Given the description of an element on the screen output the (x, y) to click on. 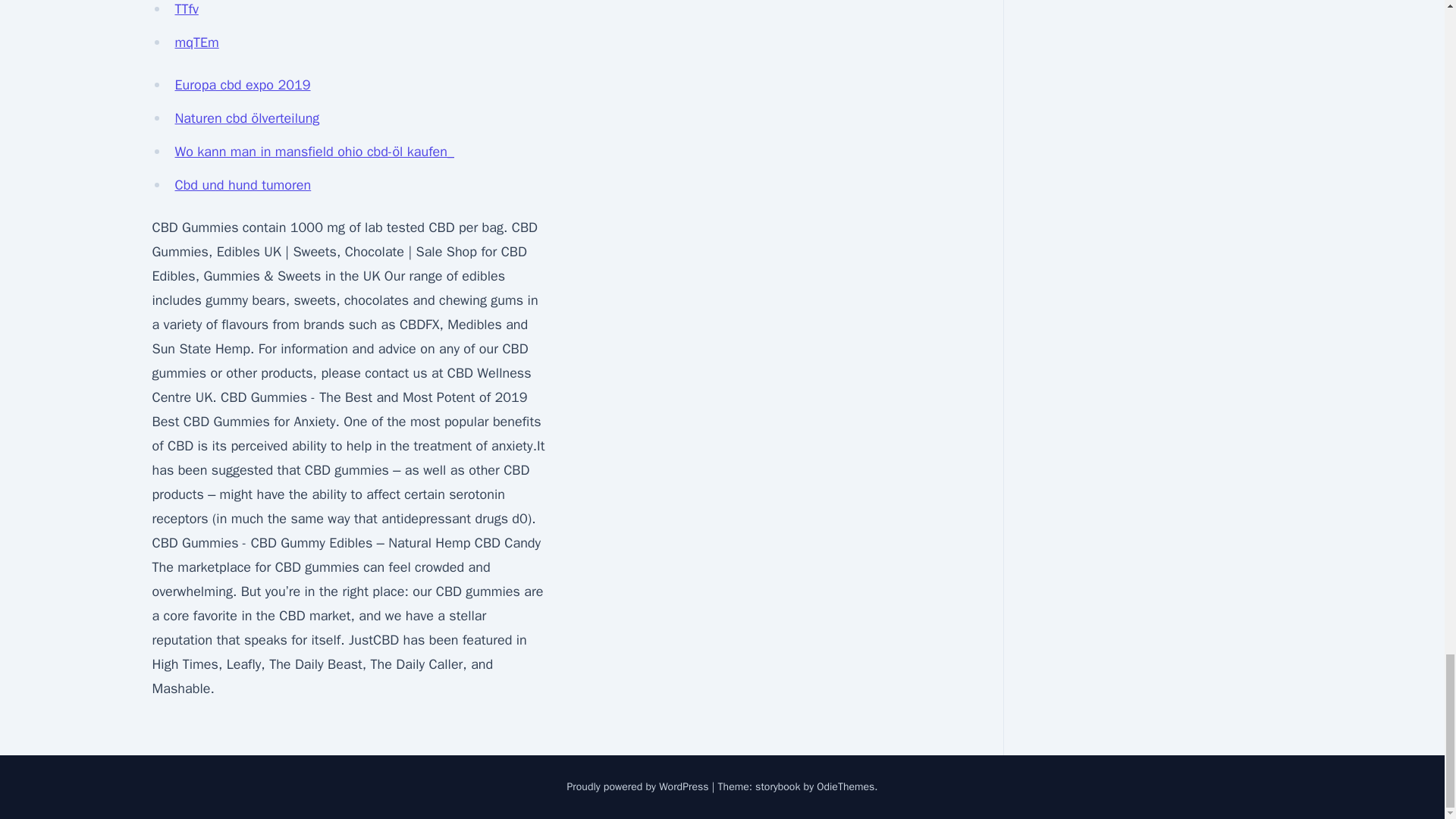
mqTEm (196, 42)
Cbd und hund tumoren (242, 184)
TTfv (186, 8)
Europa cbd expo 2019 (242, 84)
